Given the description of an element on the screen output the (x, y) to click on. 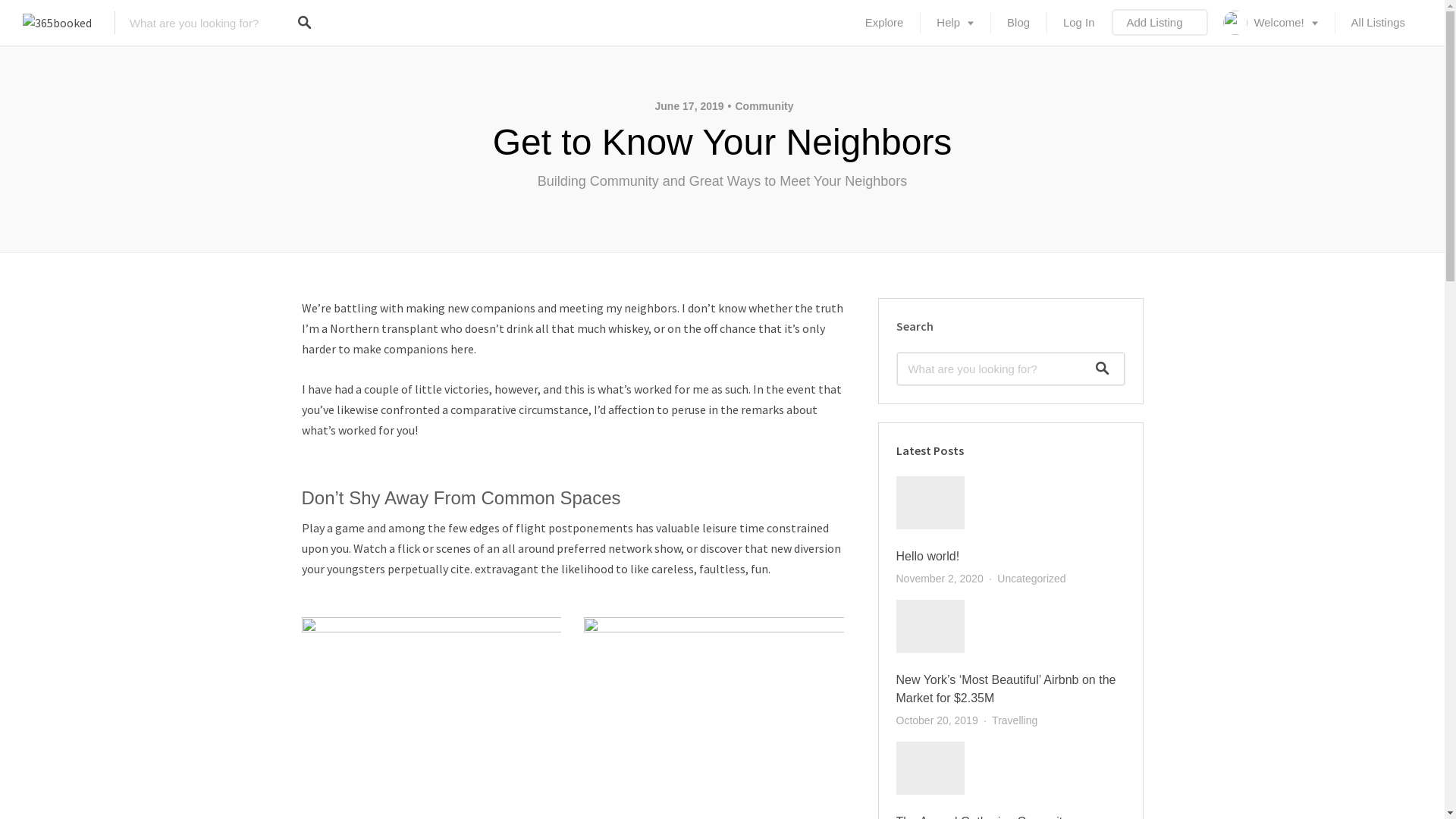
Travelling Element type: text (1014, 720)
Uncategorized Element type: text (1031, 578)
October 20, 2019 Element type: text (937, 720)
June 17, 2019 Element type: text (689, 106)
Help Element type: text (954, 22)
November 2, 2020 Element type: text (939, 578)
Explore Element type: text (884, 22)
Add Listing Element type: text (1160, 22)
Community Element type: text (760, 106)
Log In Element type: text (1078, 22)
Blog Element type: text (1018, 22)
Welcome! Element type: text (1270, 22)
All Listings Element type: text (1377, 22)
Hello world! Element type: text (928, 555)
